Given the description of an element on the screen output the (x, y) to click on. 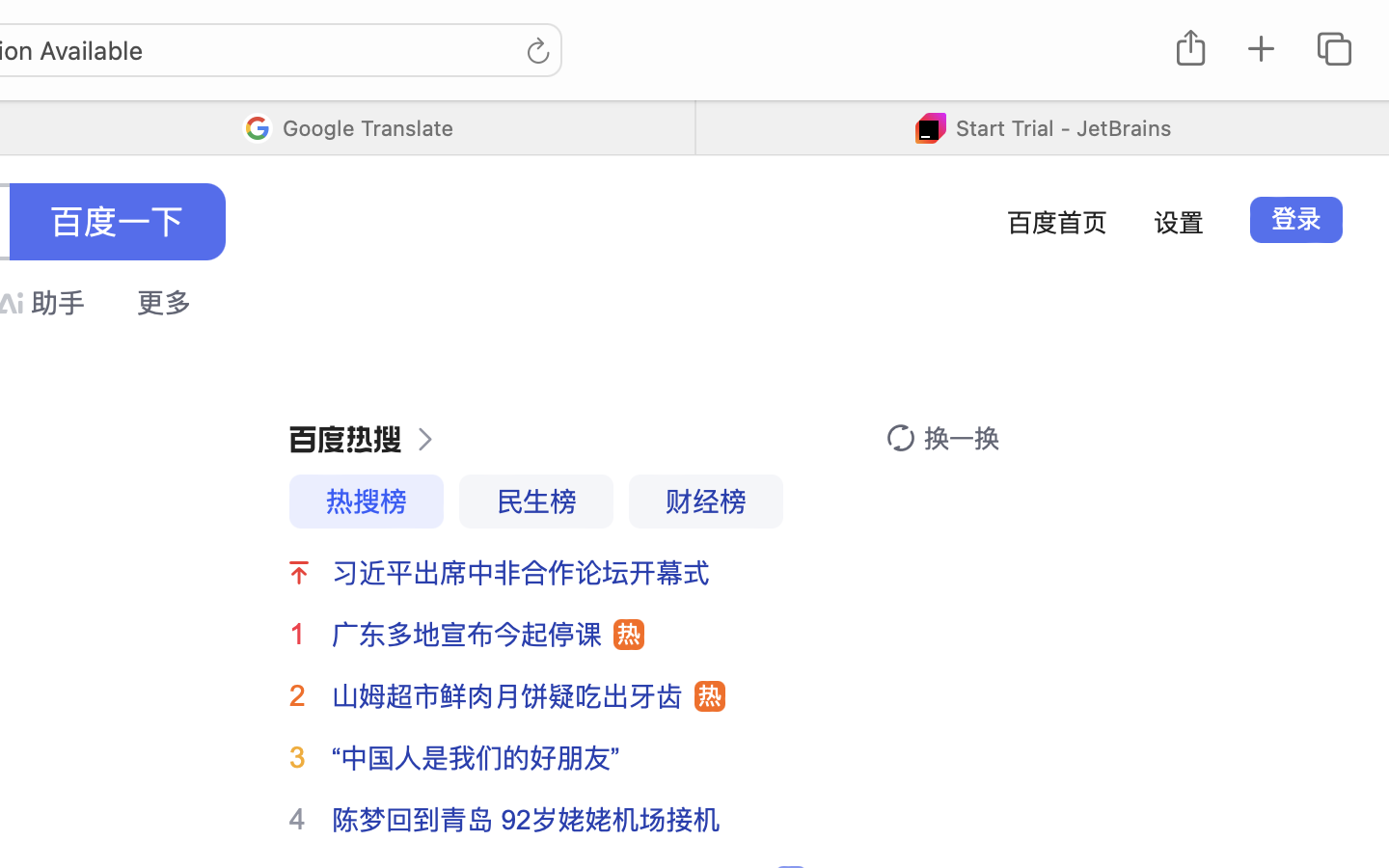
山姆超市鲜肉月饼疑吃出牙齿 Element type: AXStaticText (506, 695)
更多 Element type: AXStaticText (163, 302)
2 Element type: AXStaticText (296, 694)
广东多地宣布今起停课 Element type: AXStaticText (466, 634)
登录 Element type: AXStaticText (1296, 218)
